Given the description of an element on the screen output the (x, y) to click on. 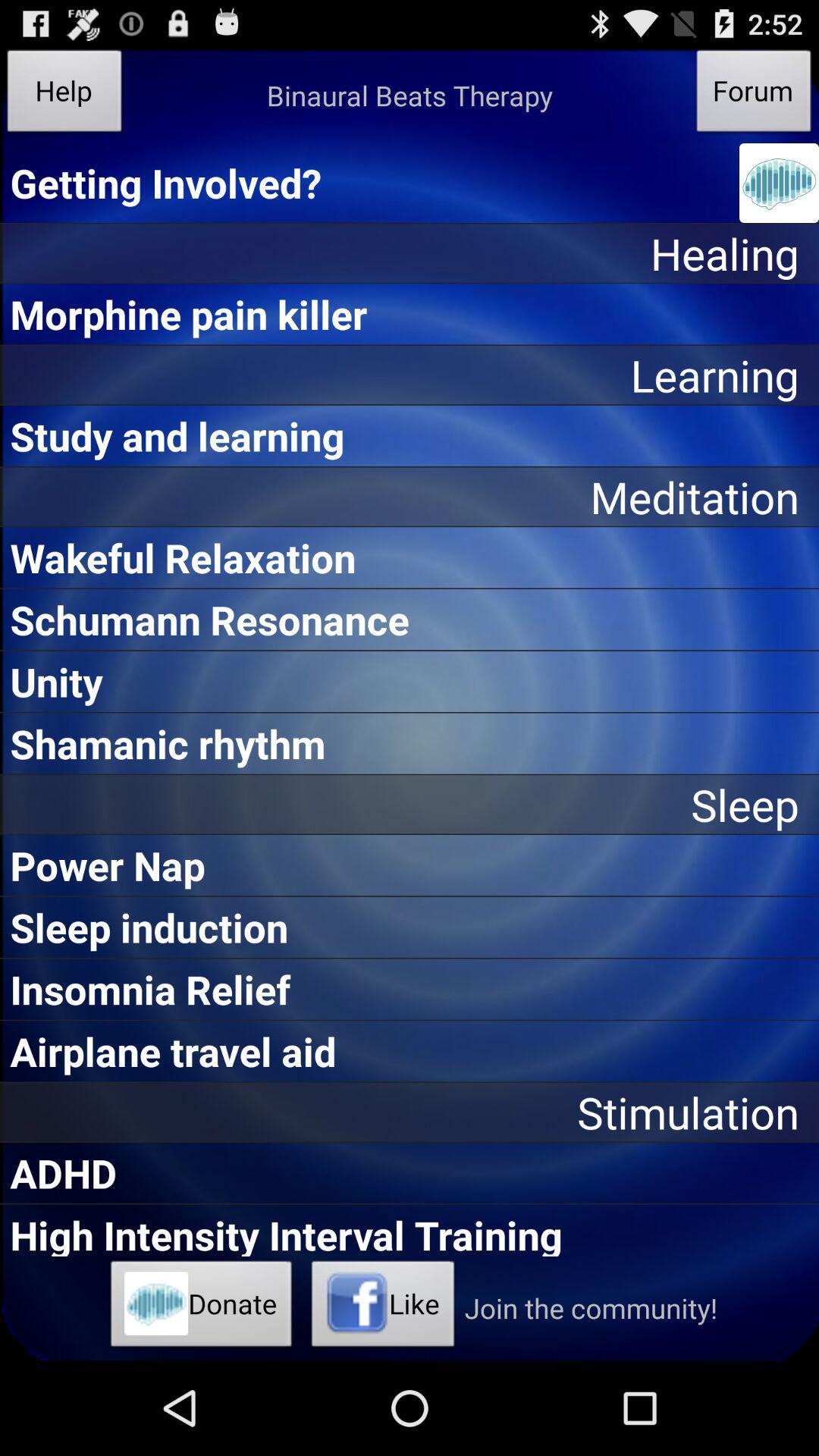
click help at the top left corner (64, 95)
